Given the description of an element on the screen output the (x, y) to click on. 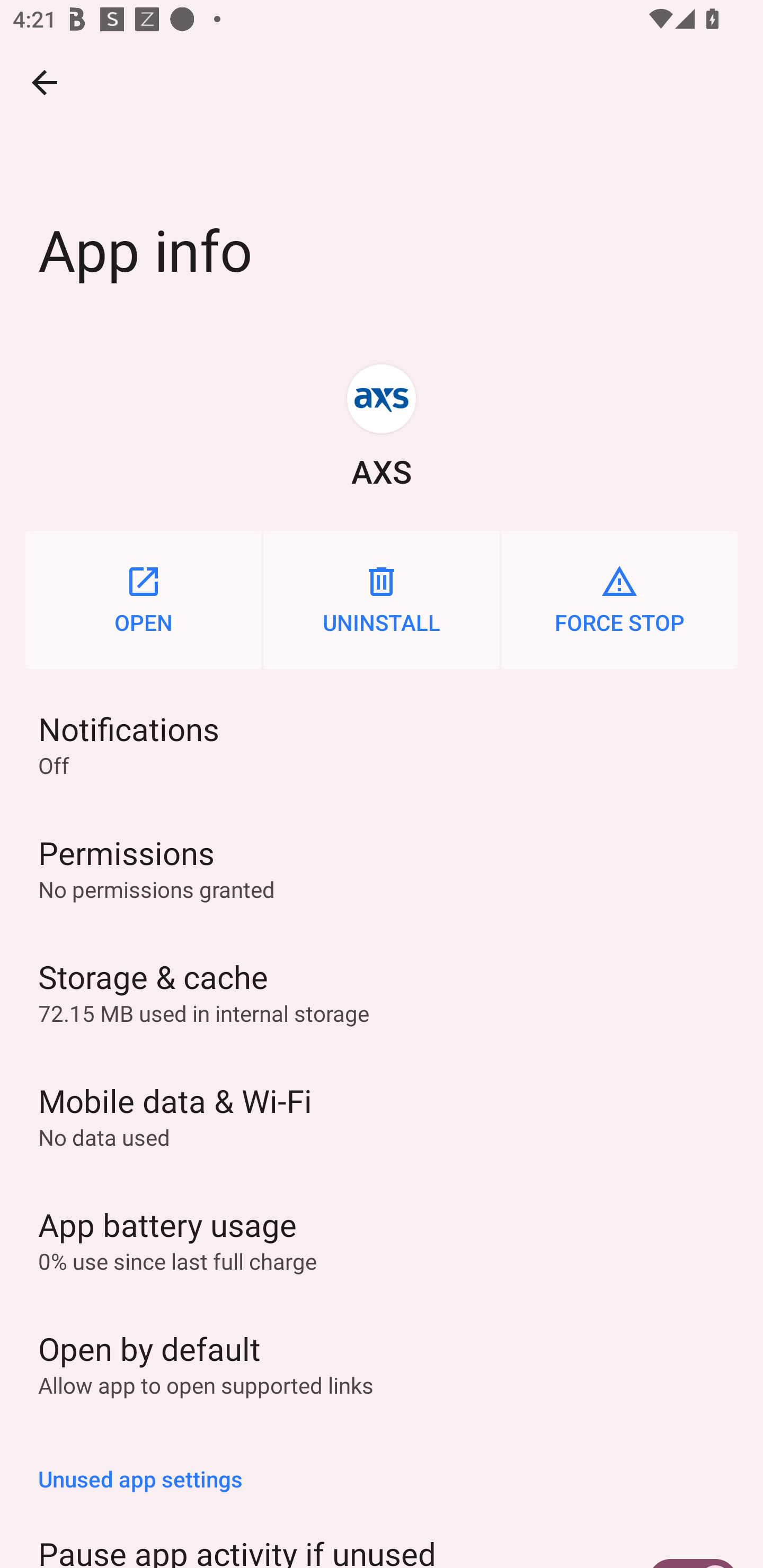
Navigate up (44, 82)
OPEN (143, 600)
UNINSTALL (381, 600)
FORCE STOP (619, 600)
Notifications Off (381, 743)
Permissions No permissions granted (381, 867)
Storage & cache 72.15 MB used in internal storage (381, 991)
Mobile data & Wi‑Fi No data used (381, 1115)
App battery usage 0% use since last full charge (381, 1239)
Open by default Allow app to open supported links (381, 1363)
Pause app activity if unused (381, 1537)
